Given the description of an element on the screen output the (x, y) to click on. 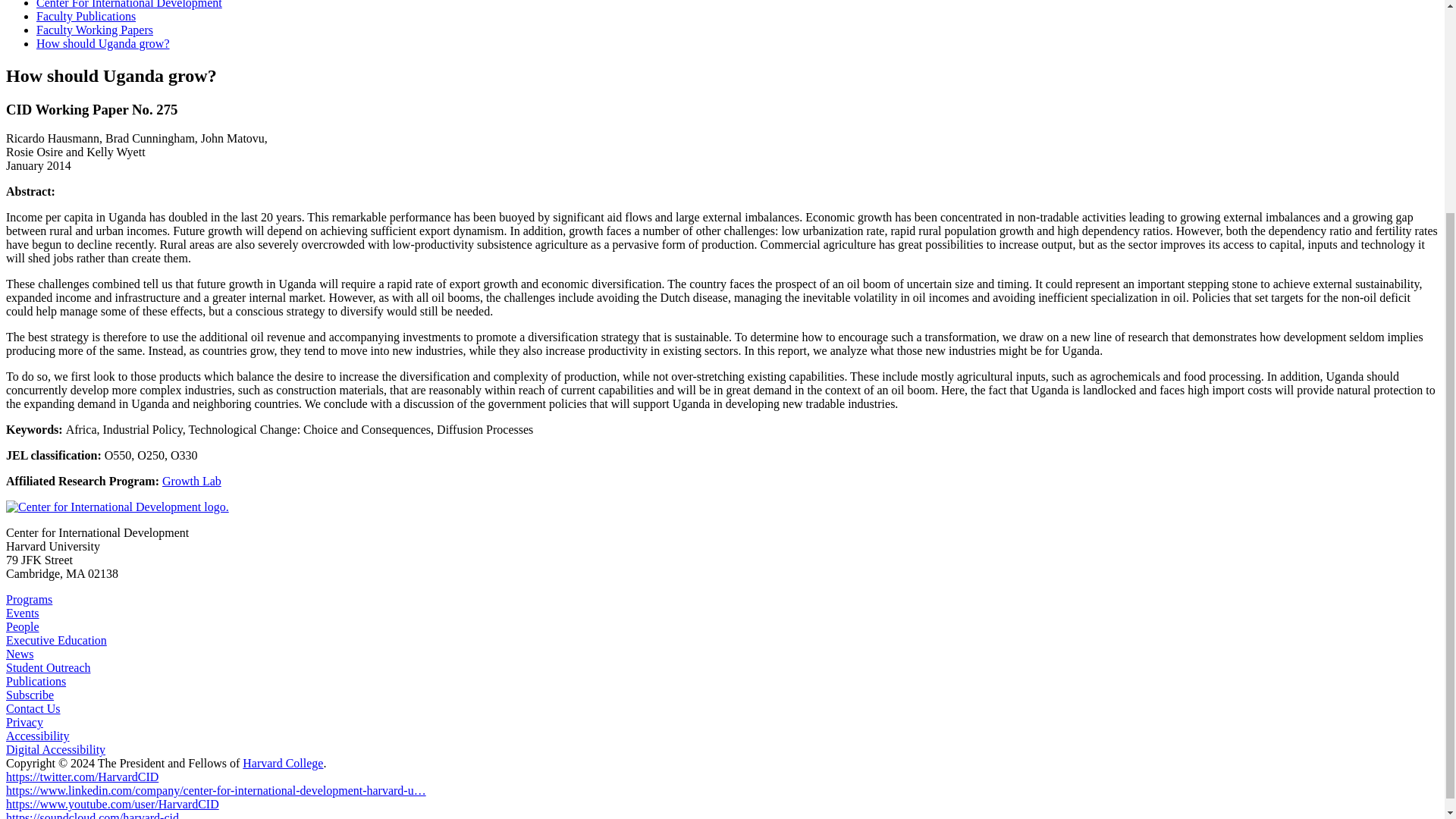
Accessibility (37, 735)
Digital Accessibility (54, 748)
Publications (35, 680)
Student Outreach (47, 667)
Harvard College (283, 762)
Privacy (24, 721)
Executive Education (55, 640)
People (22, 626)
Center For International Development (129, 4)
Faculty Working Papers (94, 29)
Faculty Publications (85, 15)
Events (22, 612)
Center for International Development logo. (116, 507)
Contact Us (33, 707)
Growth Lab (191, 481)
